Given the description of an element on the screen output the (x, y) to click on. 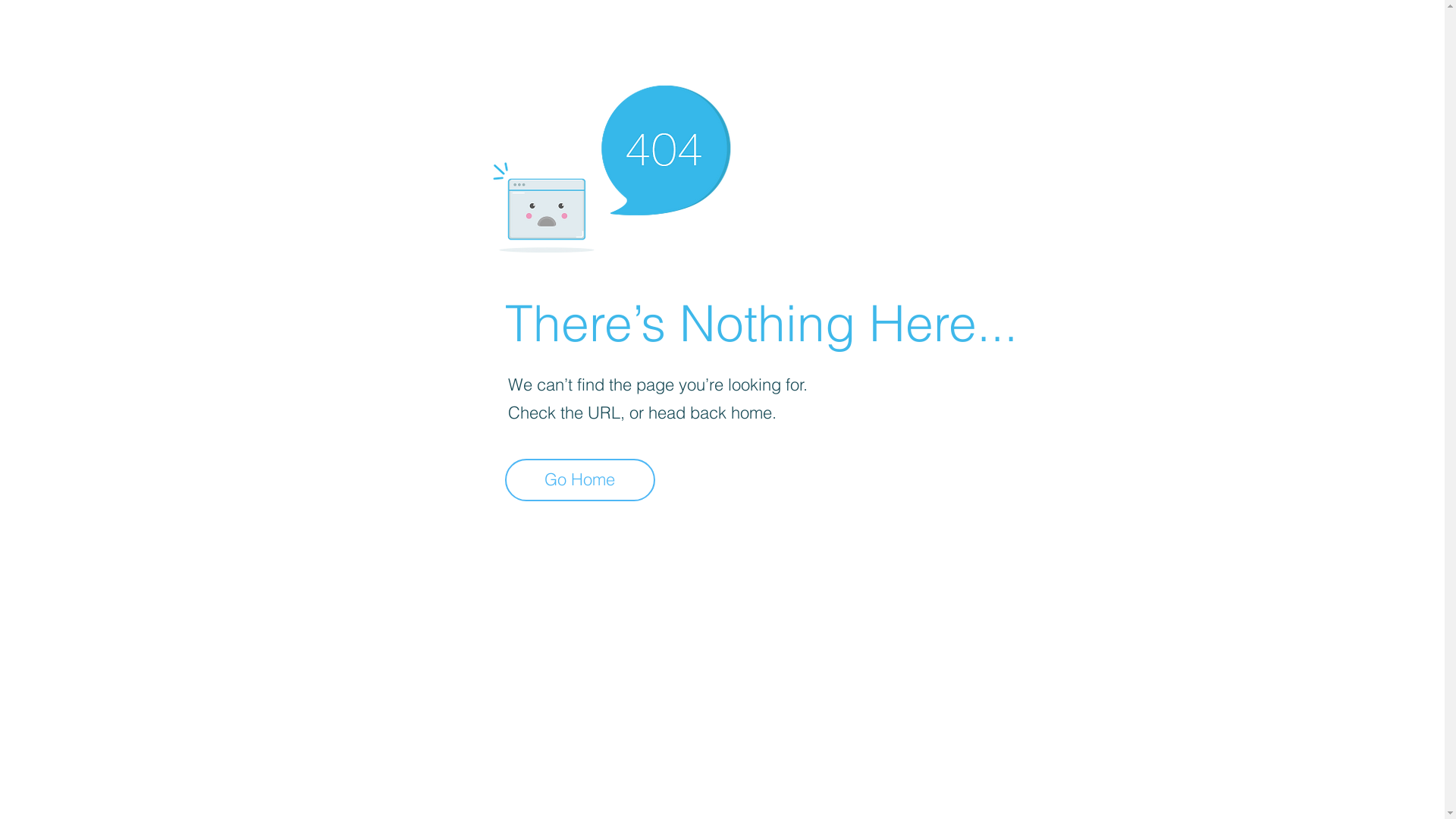
404-icon_2.png Element type: hover (610, 164)
Go Home Element type: text (580, 479)
